Given the description of an element on the screen output the (x, y) to click on. 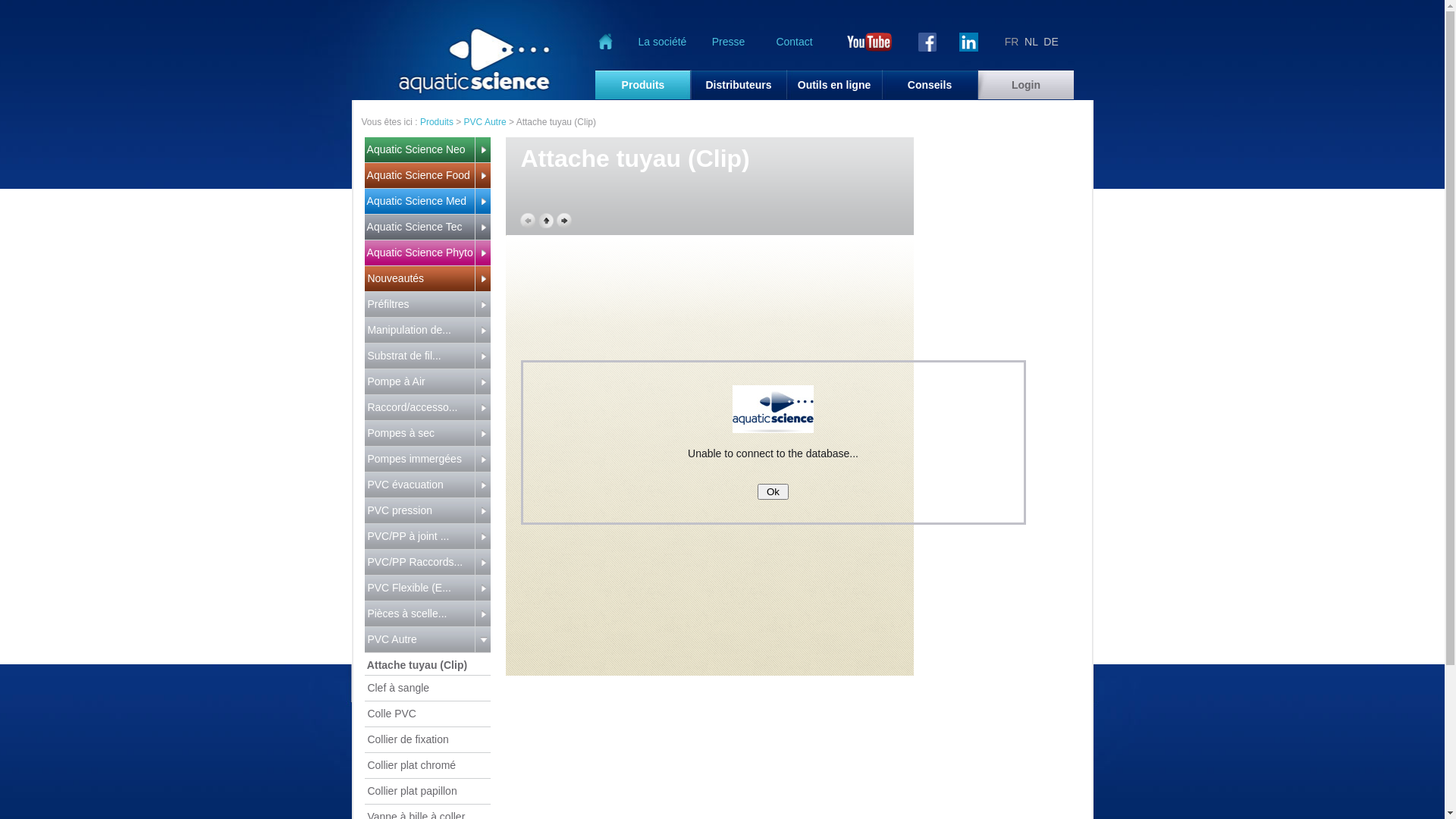
  Element type: text (482, 227)
  Element type: text (968, 40)
  Element type: text (482, 304)
  Element type: text (482, 407)
  Element type: text (482, 614)
 Aquatic Science Phyto Element type: text (418, 253)
 Attache tuyau (Clip) Element type: text (426, 662)
 PVC pression Element type: text (418, 511)
Presse Element type: text (727, 41)
 Aquatic Science Tec Element type: text (418, 227)
  Element type: text (482, 588)
  Element type: text (482, 356)
  Element type: text (482, 382)
  Element type: text (482, 459)
PVC Autre Element type: text (485, 121)
 Manipulation de... Element type: text (418, 330)
 Substrat de fil... Element type: text (418, 356)
 Colle PVC Element type: text (426, 714)
Conseils Element type: text (929, 84)
FR Element type: text (1011, 41)
 PVC Flexible (E... Element type: text (418, 588)
 Collier plat papillon Element type: text (426, 791)
Produits Element type: text (436, 121)
 PVC/PP Raccords... Element type: text (418, 562)
 Aquatic Science Neo Element type: text (418, 150)
  Element type: text (605, 40)
Outils en ligne Element type: text (833, 84)
Distributeurs Element type: text (738, 84)
NL Element type: text (1030, 41)
  Element type: text (482, 278)
Produits Element type: text (642, 84)
  Element type: text (482, 562)
 Raccord/accesso... Element type: text (418, 407)
  Element type: text (482, 253)
Contact Element type: text (793, 41)
  Element type: text (927, 40)
  Element type: text (482, 511)
DE Element type: text (1050, 41)
  Element type: text (482, 150)
  Element type: text (482, 536)
 Aquatic Science Food Element type: text (418, 175)
  Element type: text (482, 175)
  Element type: text (482, 433)
 Collier de fixation Element type: text (426, 740)
  Element type: text (482, 485)
 PVC Autre Element type: text (418, 639)
  Element type: text (482, 330)
Login Element type: text (1025, 84)
  Element type: text (482, 639)
  Element type: text (482, 201)
 Aquatic Science Med Element type: text (418, 201)
  Element type: text (869, 40)
